Given the description of an element on the screen output the (x, y) to click on. 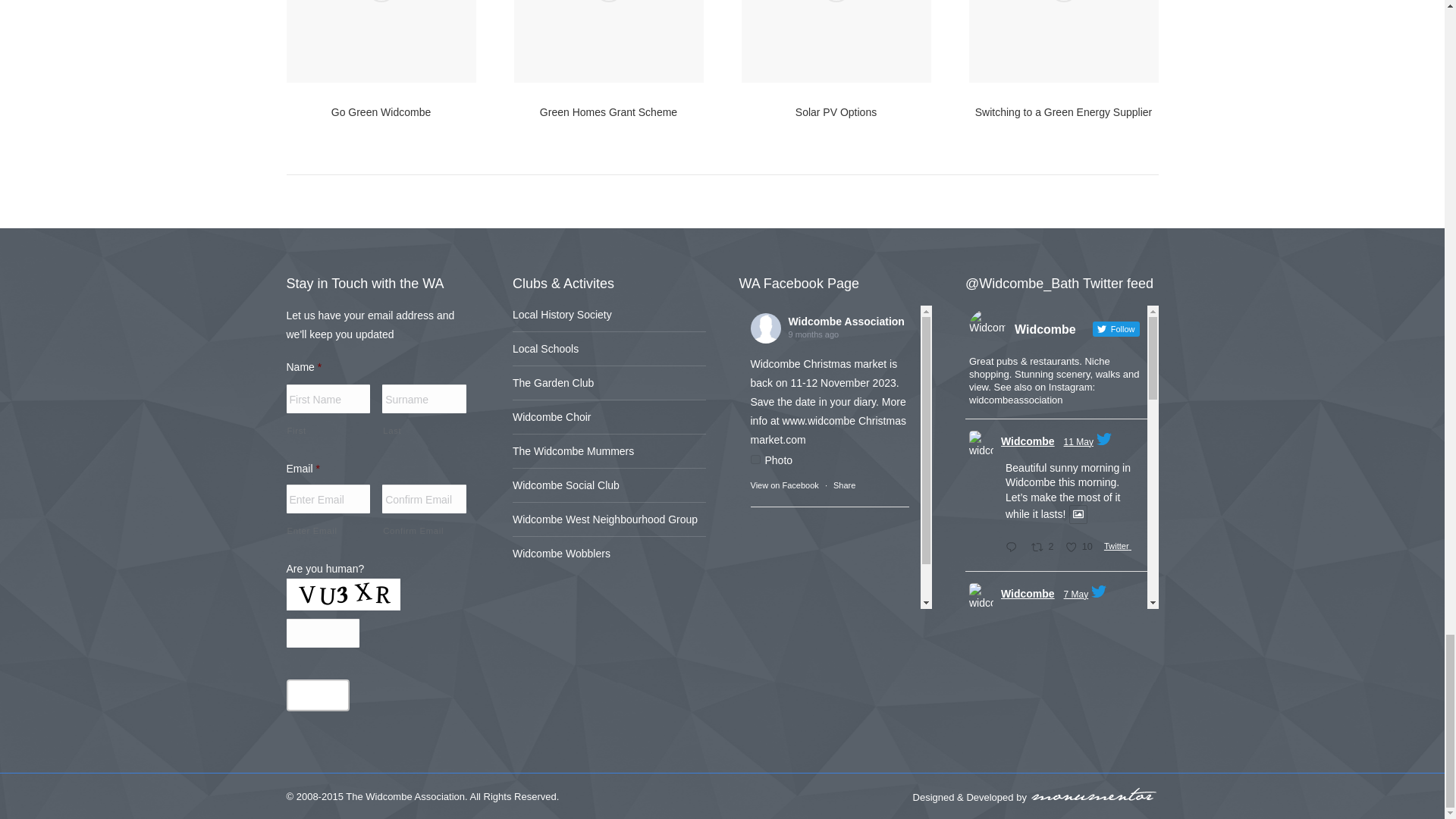
Green Homes Grant Scheme (608, 111)
View on Facebook (784, 484)
Go Green Widcombe (380, 111)
Likebox Iframe (830, 579)
Solar PV Options (835, 111)
Submit (318, 695)
Switching to a Green Energy Supplier (1063, 111)
Share (844, 484)
